Given the description of an element on the screen output the (x, y) to click on. 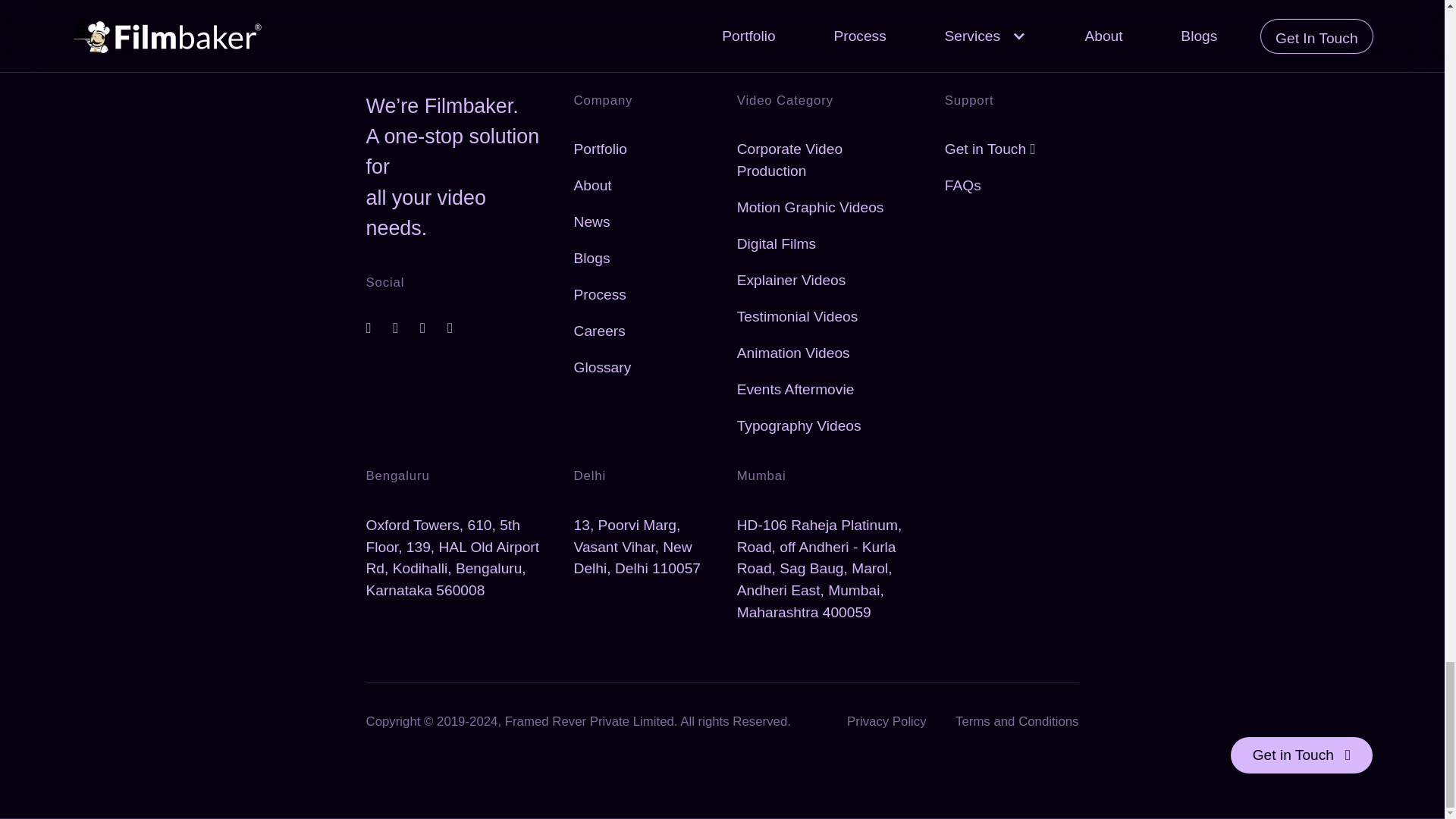
Blogs (598, 259)
About (599, 186)
Portfolio (607, 149)
Process (607, 295)
News (598, 222)
Careers (606, 332)
